Given the description of an element on the screen output the (x, y) to click on. 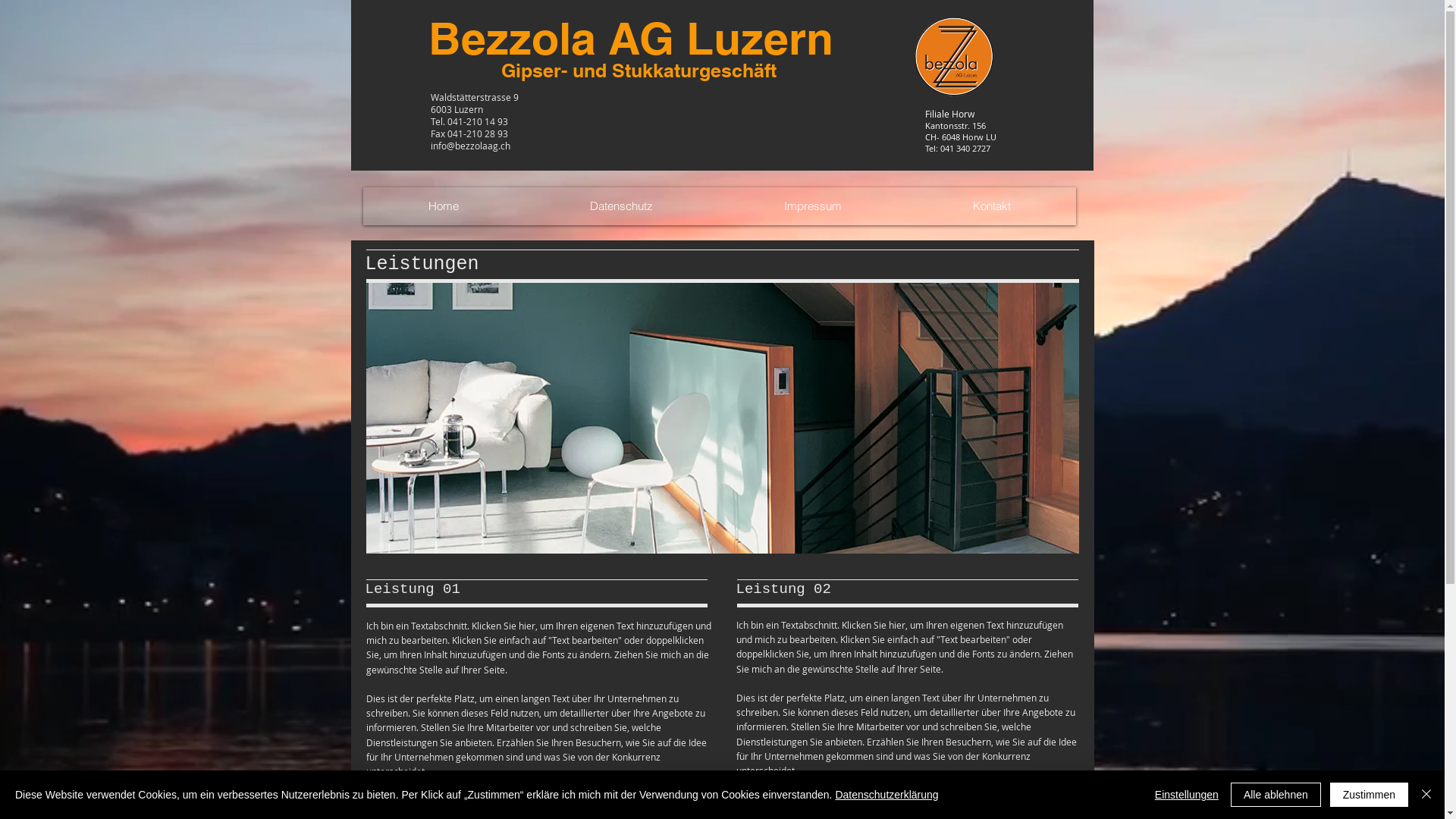
Zustimmen Element type: text (1369, 794)
Home Element type: text (442, 206)
Bezzola AG Luzern Element type: text (630, 37)
info@bezzolaag.ch Element type: text (470, 145)
Datenschutz Element type: text (620, 206)
Impressum Element type: text (811, 206)
Alle ablehnen Element type: text (1275, 794)
Kontakt Element type: text (991, 206)
